Given the description of an element on the screen output the (x, y) to click on. 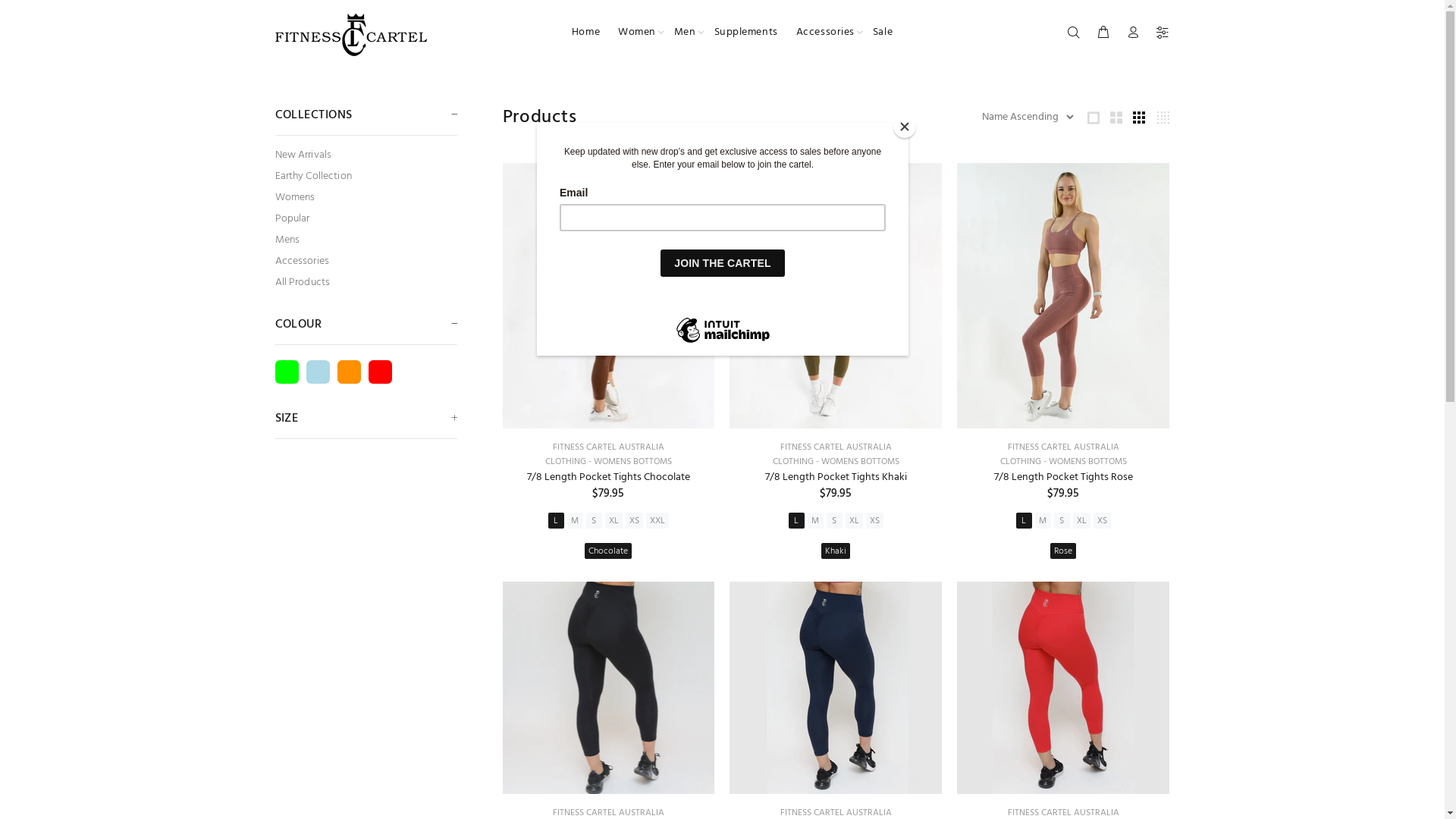
XS Element type: text (874, 520)
Mens Element type: text (365, 240)
Green Element type: text (286, 371)
CLOTHING - WOMENS BOTTOMS Element type: text (1063, 461)
XXL Element type: text (657, 520)
S Element type: text (594, 520)
7/8 Length Pocket Tights Khaki Element type: text (835, 477)
Orange Element type: text (348, 371)
Chocolate Element type: text (607, 550)
Supplements Element type: text (746, 31)
Earthy Collection Element type: text (365, 176)
Rose Element type: text (1063, 550)
M Element type: text (815, 520)
XL Element type: text (853, 520)
L Element type: text (796, 520)
New Arrivals Element type: text (365, 155)
FITNESS CARTEL AUSTRALIA Element type: text (1063, 447)
Women Element type: text (636, 31)
CLOTHING - WOMENS BOTTOMS Element type: text (835, 461)
XL Element type: text (1081, 520)
Accessories Element type: text (825, 31)
Red Element type: text (380, 371)
7/8 Length Pocket Tights Rose Element type: text (1063, 477)
M Element type: text (1043, 520)
XL Element type: text (613, 520)
Sale Element type: text (877, 31)
S Element type: text (1062, 520)
Home Element type: text (585, 31)
L Element type: text (556, 520)
Light Blue Element type: text (317, 371)
XS Element type: text (634, 520)
M Element type: text (575, 520)
Womens Element type: text (365, 197)
S Element type: text (834, 520)
Accessories Element type: text (365, 261)
Popular Element type: text (365, 218)
Men Element type: text (685, 31)
7/8 Length Pocket Tights Chocolate Element type: text (608, 477)
FITNESS CARTEL AUSTRALIA Element type: text (835, 447)
XS Element type: text (1101, 520)
FITNESS CARTEL AUSTRALIA Element type: text (608, 447)
Khaki Element type: text (835, 550)
L Element type: text (1024, 520)
All Products Element type: text (365, 280)
CLOTHING - WOMENS BOTTOMS Element type: text (608, 461)
